Given the description of an element on the screen output the (x, y) to click on. 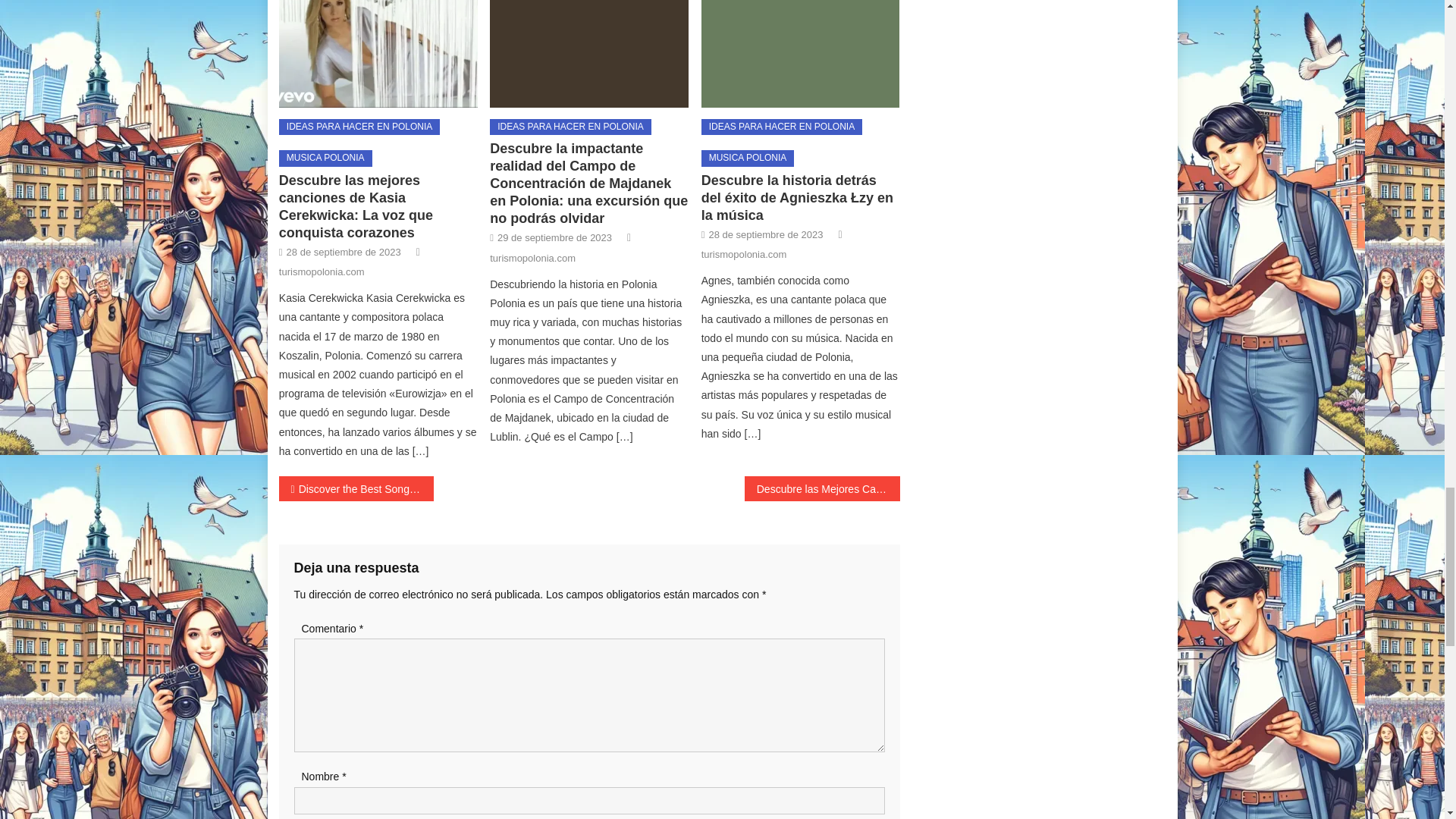
turismopolonia.com (322, 271)
29 de septiembre de 2023 (554, 237)
28 de septiembre de 2023 (343, 252)
IDEAS PARA HACER EN POLONIA (360, 126)
IDEAS PARA HACER EN POLONIA (569, 126)
MUSICA POLONIA (325, 158)
